Given the description of an element on the screen output the (x, y) to click on. 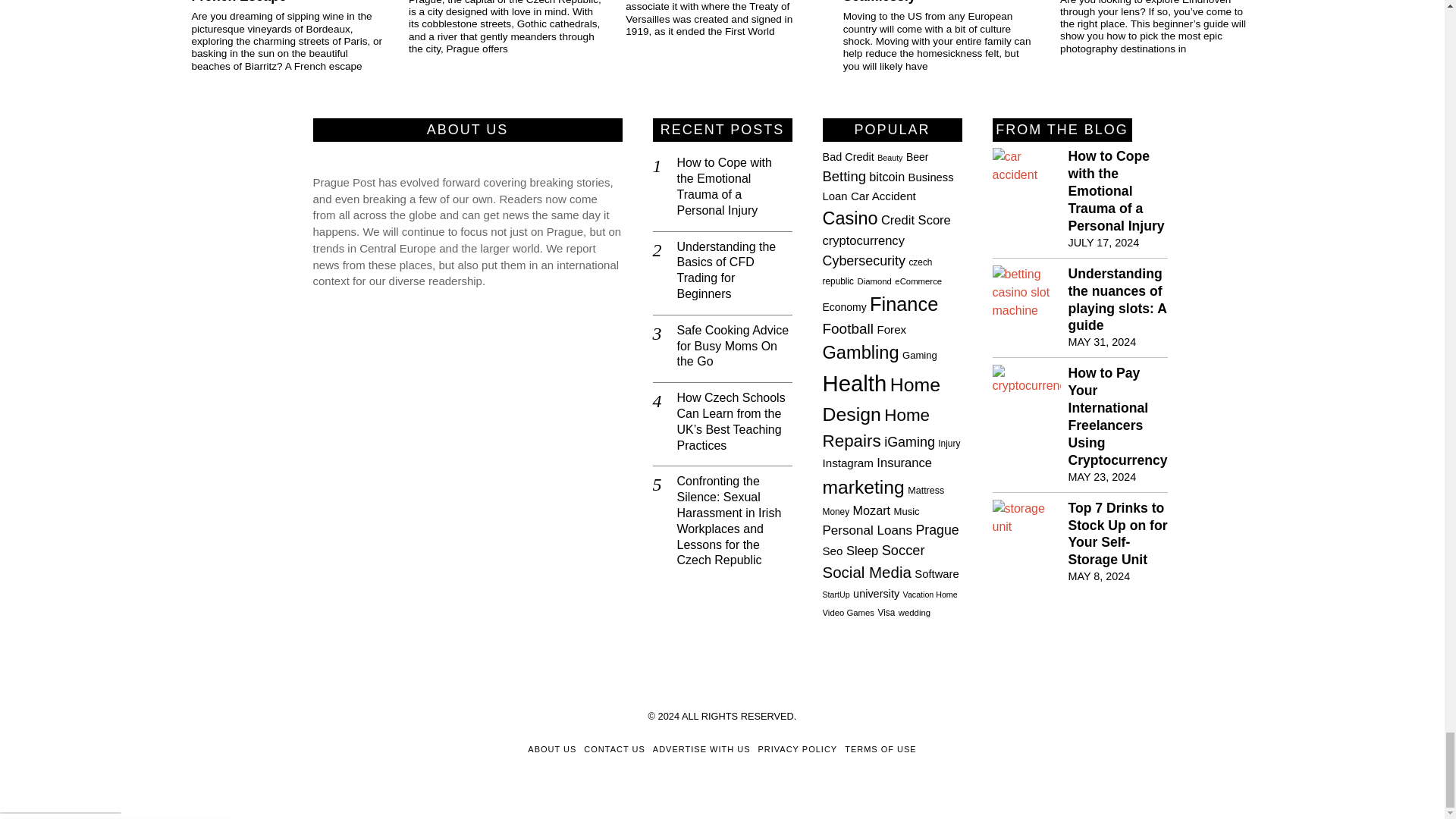
31 May, 2024 00:10:43 (1101, 341)
08 May, 2024 00:24:28 (1098, 575)
23 May, 2024 00:36:39 (1101, 476)
17 Jul, 2024 02:55:10 (1102, 242)
